Given the description of an element on the screen output the (x, y) to click on. 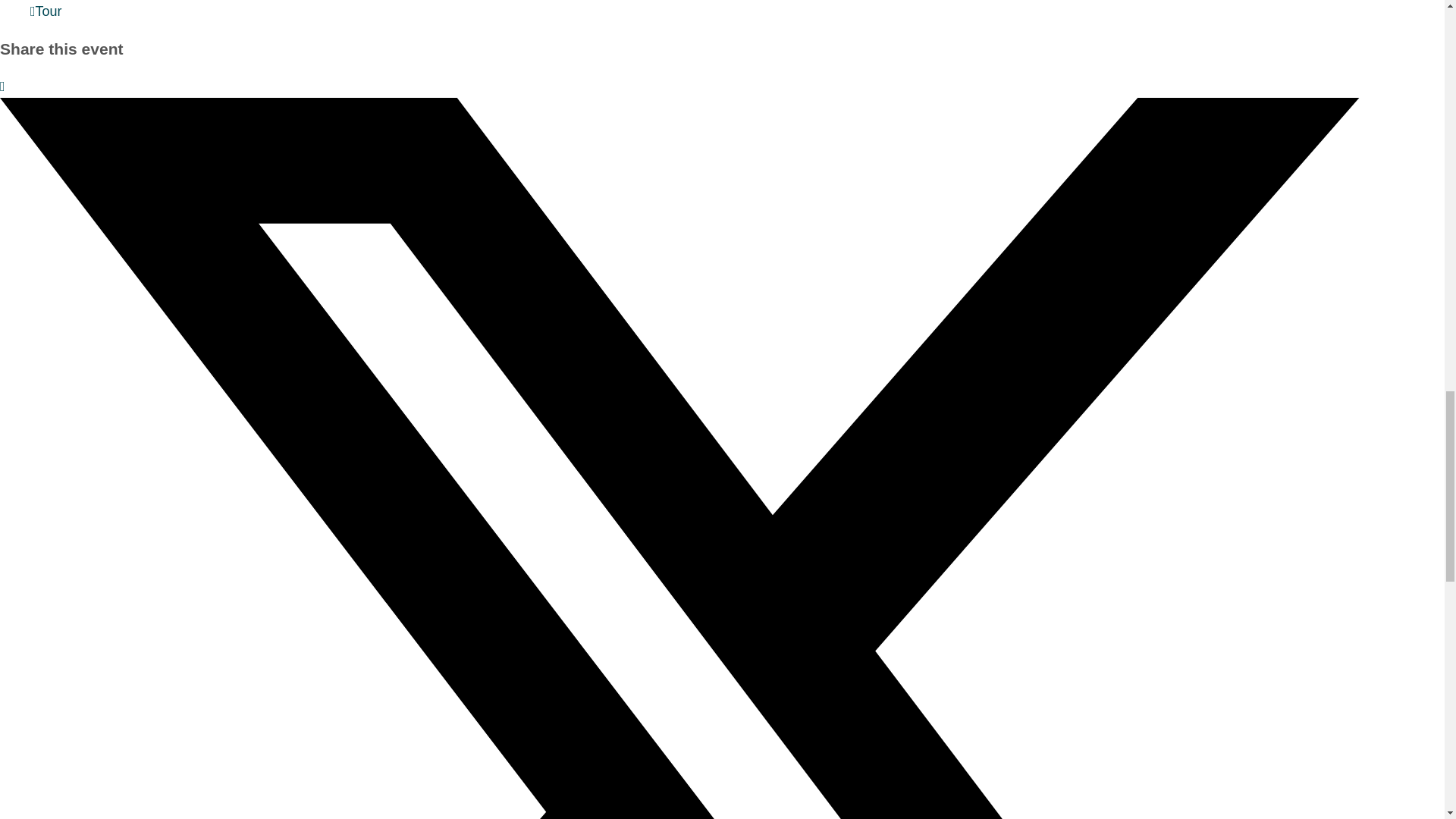
Share on Facebook (2, 86)
